Given the description of an element on the screen output the (x, y) to click on. 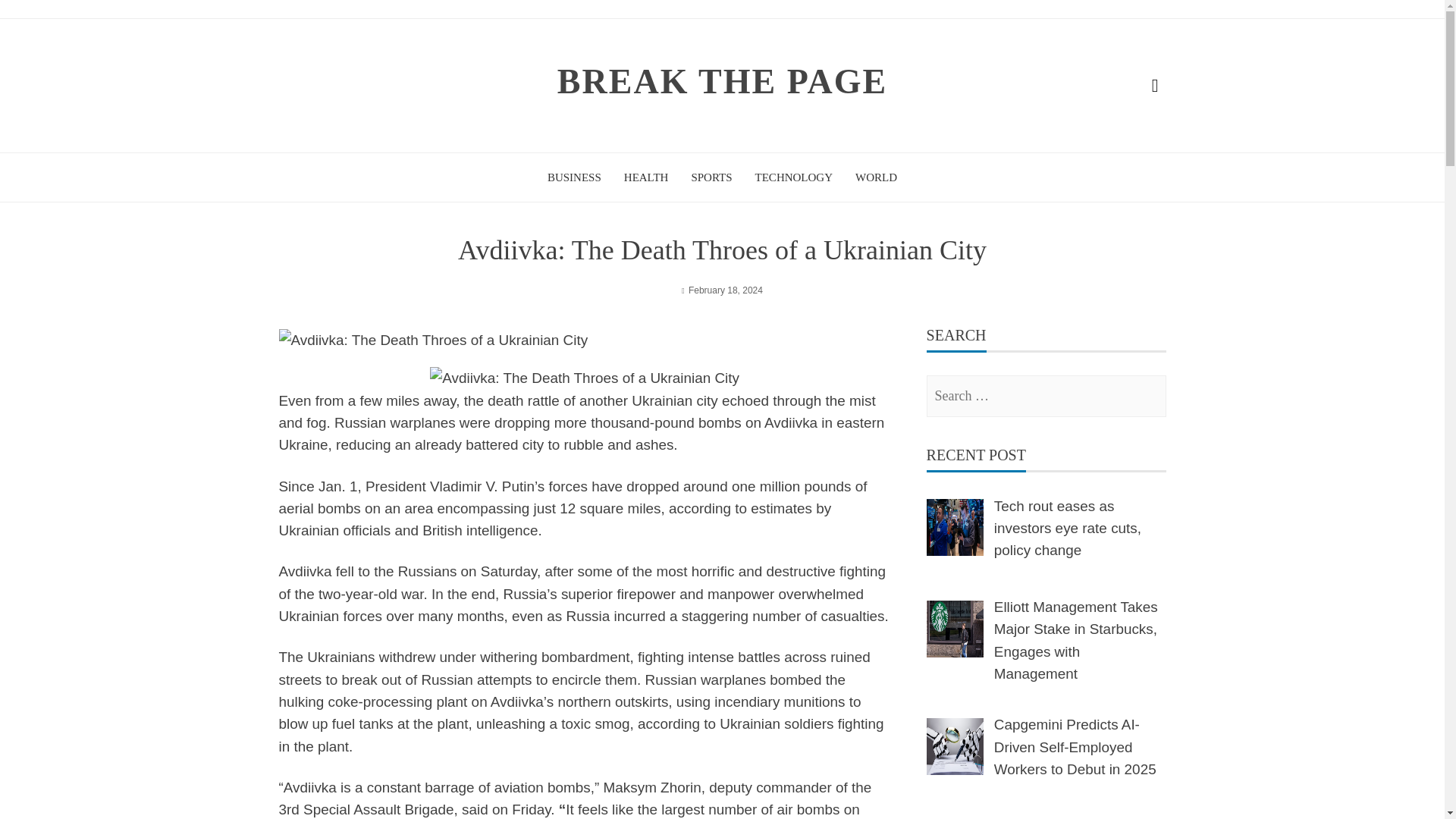
Tech rout eases as investors eye rate cuts, policy change (955, 527)
Tech rout eases as investors eye rate cuts, policy change (1067, 527)
Search (33, 19)
British intelligence (479, 530)
HEALTH (646, 177)
BREAK THE PAGE (721, 81)
BUSINESS (574, 177)
TECHNOLOGY (793, 177)
WORLD (876, 177)
Avdiivka: The Death Throes of a Ukrainian City (433, 340)
Avdiivka: The Death Throes of a Ukrainian City (584, 377)
